Given the description of an element on the screen output the (x, y) to click on. 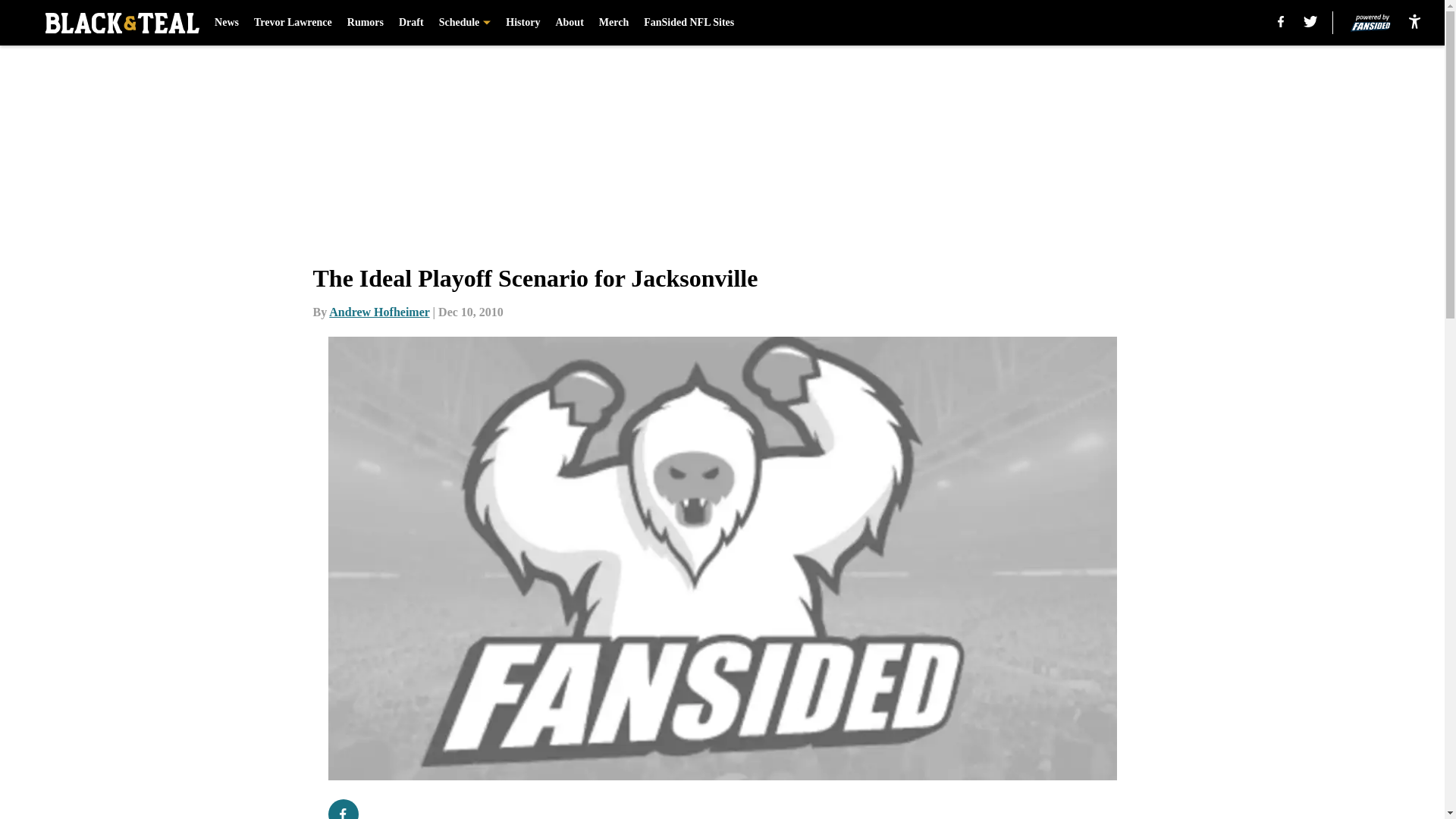
Trevor Lawrence (292, 22)
History (522, 22)
About (568, 22)
Andrew Hofheimer (379, 311)
Merch (613, 22)
FanSided NFL Sites (688, 22)
Rumors (365, 22)
News (226, 22)
Draft (410, 22)
